Given the description of an element on the screen output the (x, y) to click on. 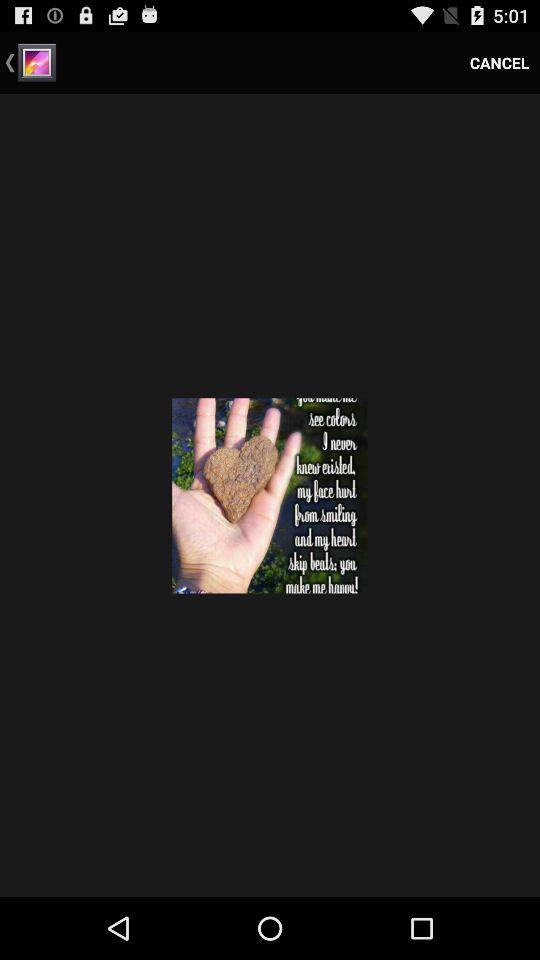
press the icon at the top right corner (499, 62)
